Given the description of an element on the screen output the (x, y) to click on. 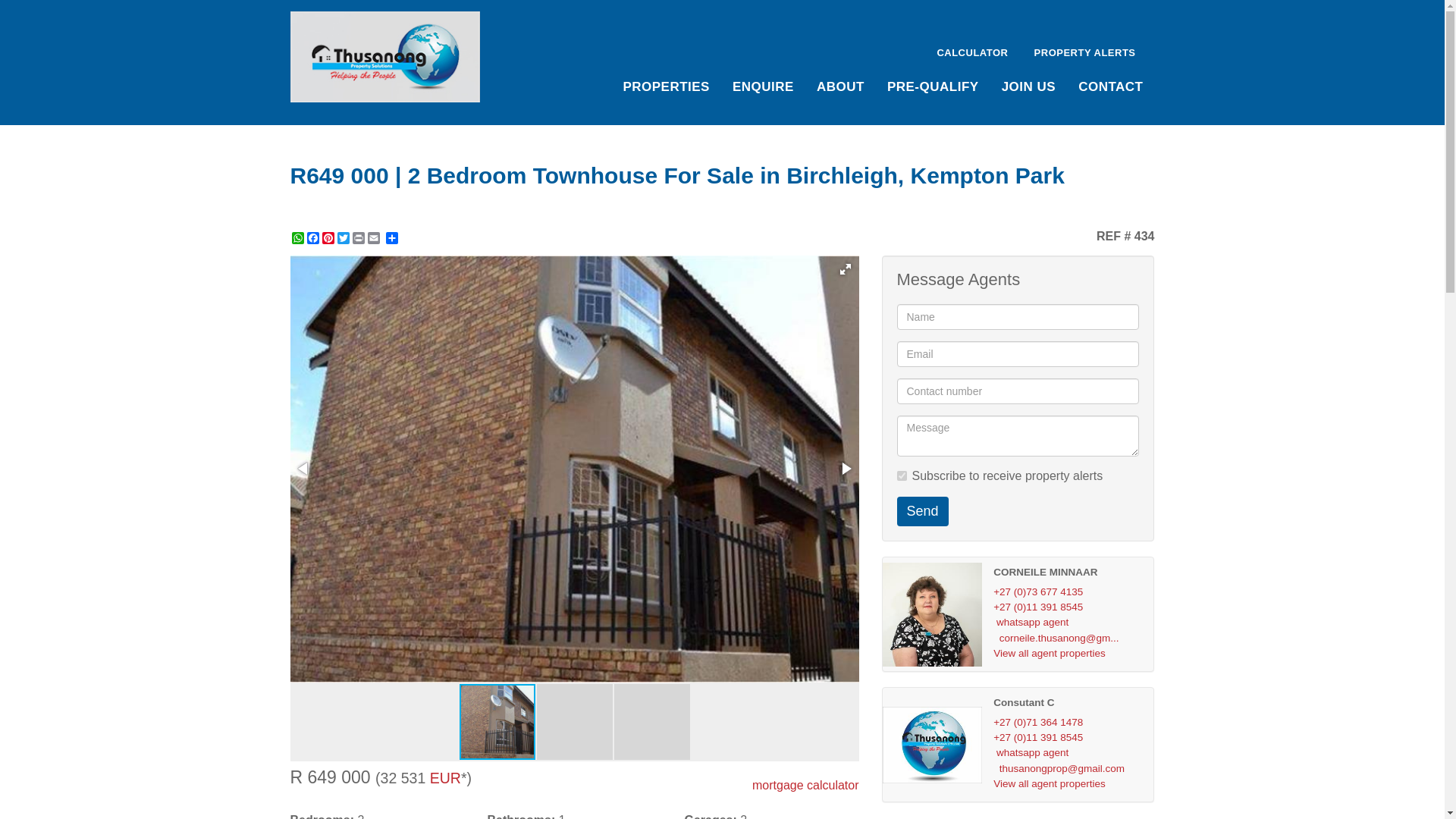
Pinterest (327, 237)
CALCULATOR (971, 50)
on (900, 475)
 PROPERTY ALERTS (1083, 50)
JOIN US (1028, 84)
ABOUT (840, 84)
Print (357, 237)
WhatsApp (296, 237)
CONTACT (1110, 84)
Thusanong Property Solutions , Estate Agency Logo (384, 56)
